Given the description of an element on the screen output the (x, y) to click on. 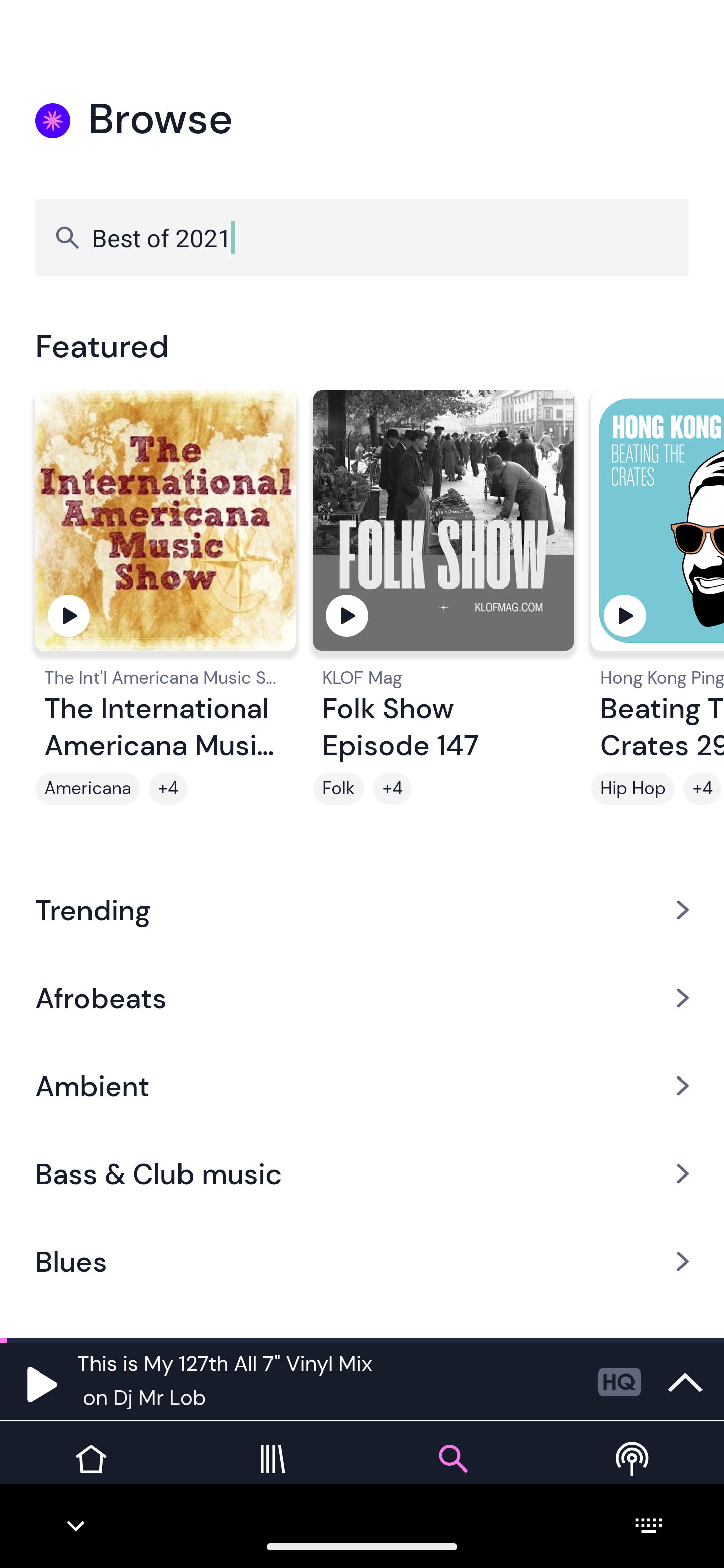
Best of 2021 (361, 237)
Americana (87, 788)
Folk (338, 788)
Hip Hop (632, 788)
Trending (361, 909)
Afrobeats (361, 997)
Ambient (361, 1085)
Bass & Club music (361, 1174)
Blues (361, 1262)
Home tab (90, 1473)
Library tab (271, 1473)
Browse tab (452, 1473)
Live tab (633, 1473)
